Given the description of an element on the screen output the (x, y) to click on. 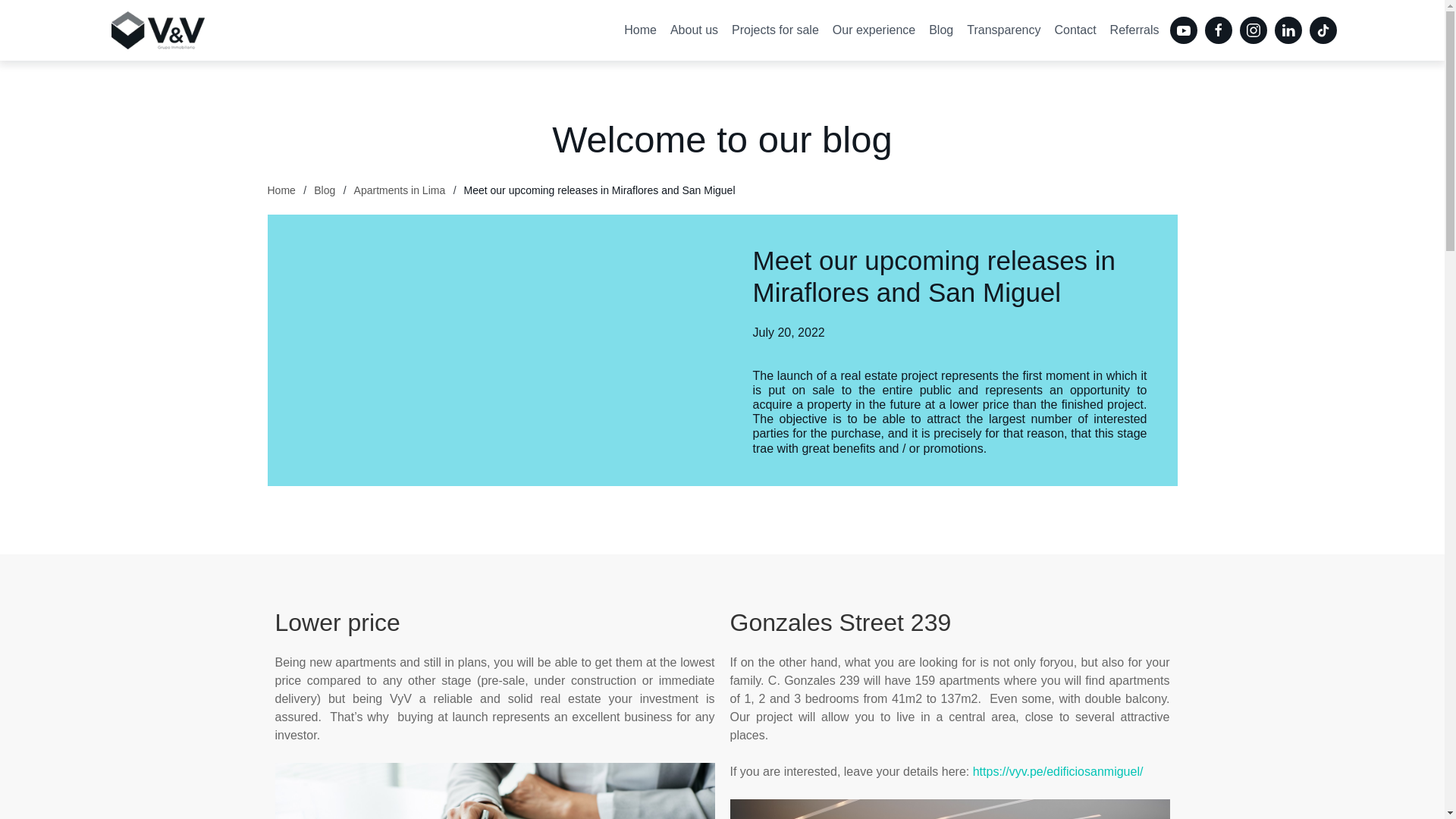
Blog (324, 190)
Apartments in Lima (399, 190)
Contact (1074, 30)
Projects for sale (775, 30)
Our experience (873, 30)
About us (694, 30)
Referrals (1134, 30)
Home (280, 190)
Transparency (1002, 30)
